Given the description of an element on the screen output the (x, y) to click on. 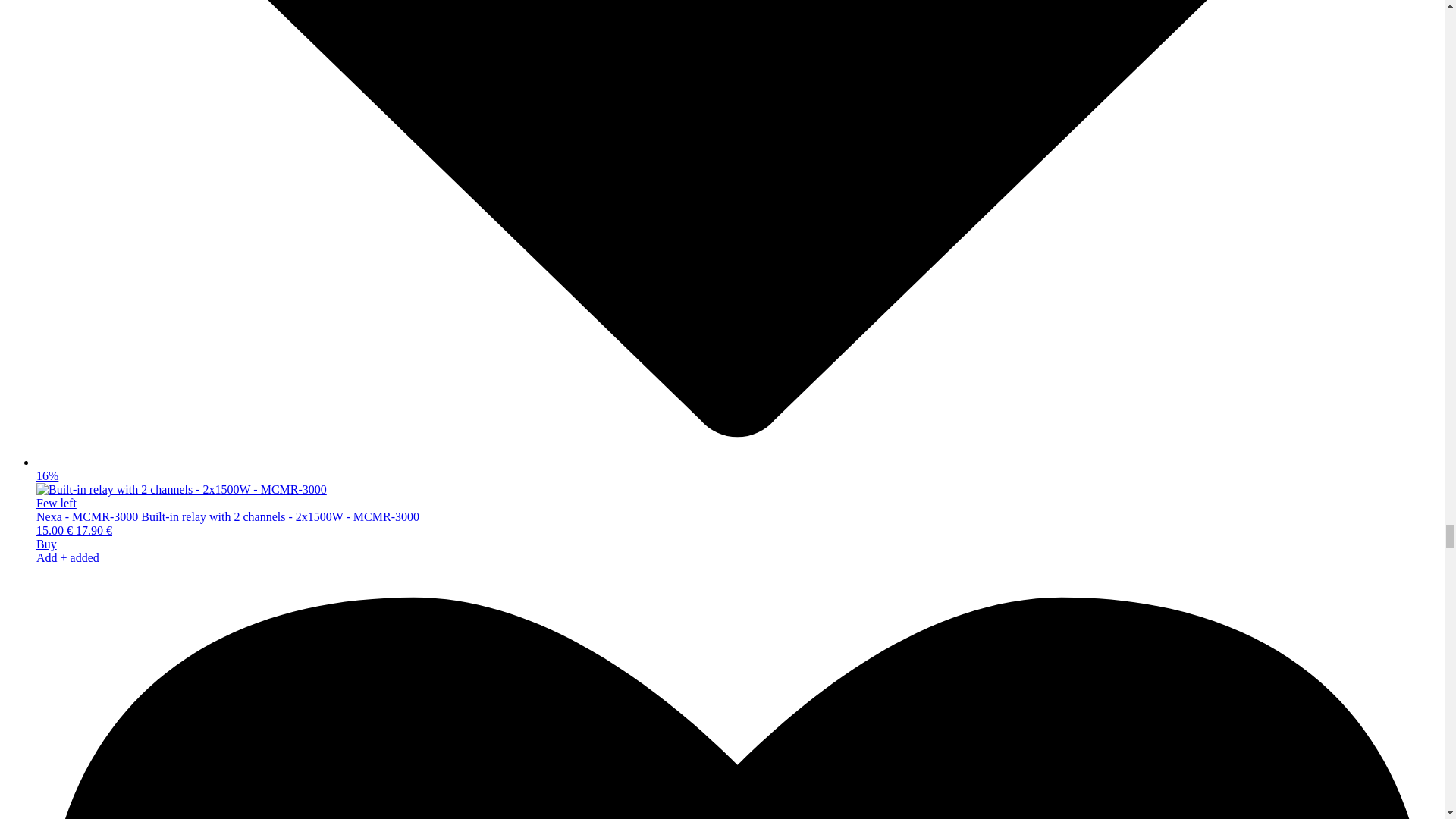
Built-in relay with 2 channels - 2x1500W - MCMR-3000 (181, 489)
